Given the description of an element on the screen output the (x, y) to click on. 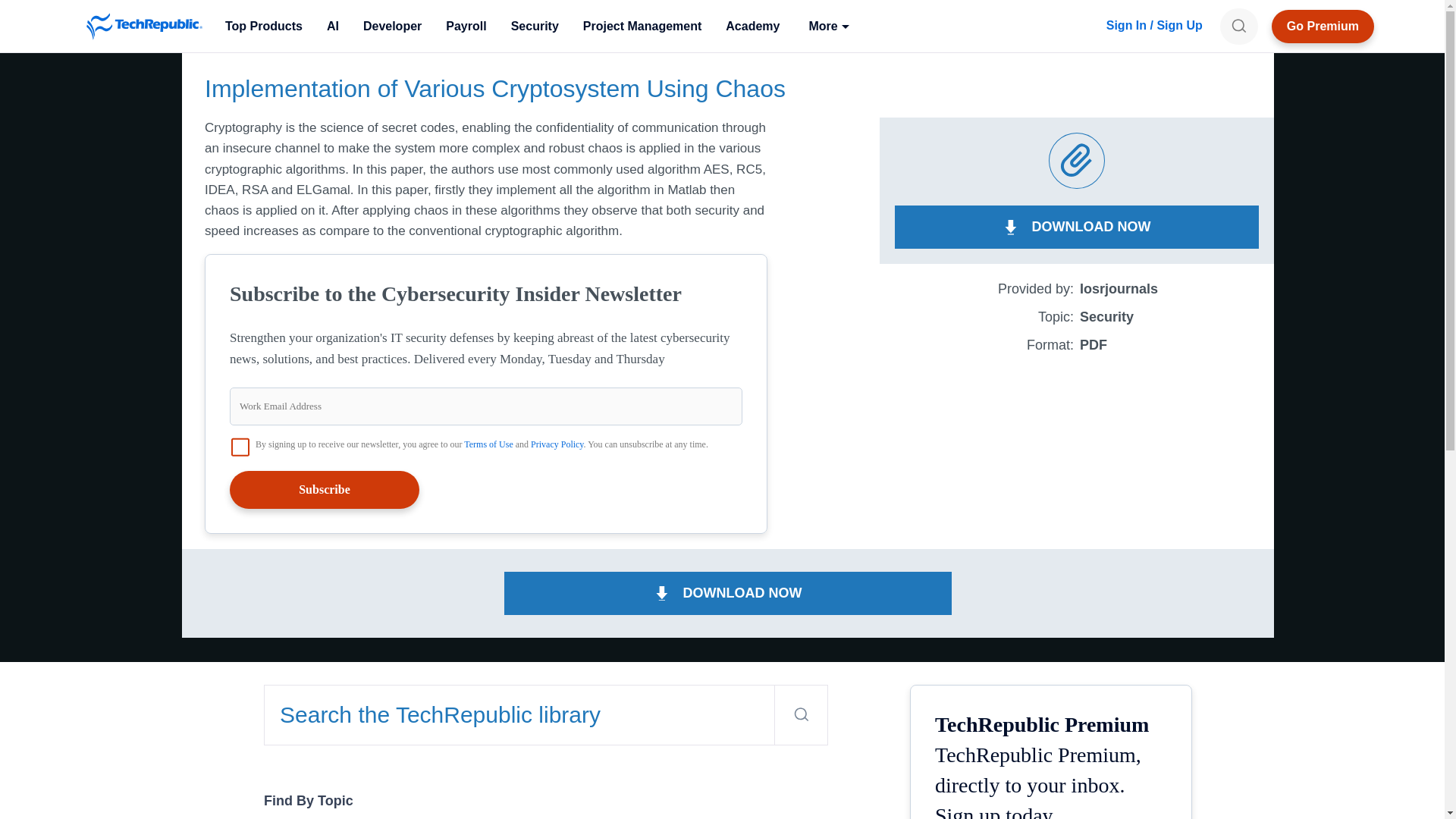
Security (534, 26)
Terms of Use (488, 443)
Go Premium (1322, 25)
Privacy Policy (557, 443)
DOWNLOAD NOW (727, 593)
DOWNLOAD NOW (1077, 226)
TechRepublic (143, 25)
Project Management (641, 26)
Developer (392, 26)
Top Products (263, 26)
Subscribe (324, 489)
on (239, 446)
Payroll (465, 26)
TechRepublic (143, 25)
TechRepublic (143, 25)
